Given the description of an element on the screen output the (x, y) to click on. 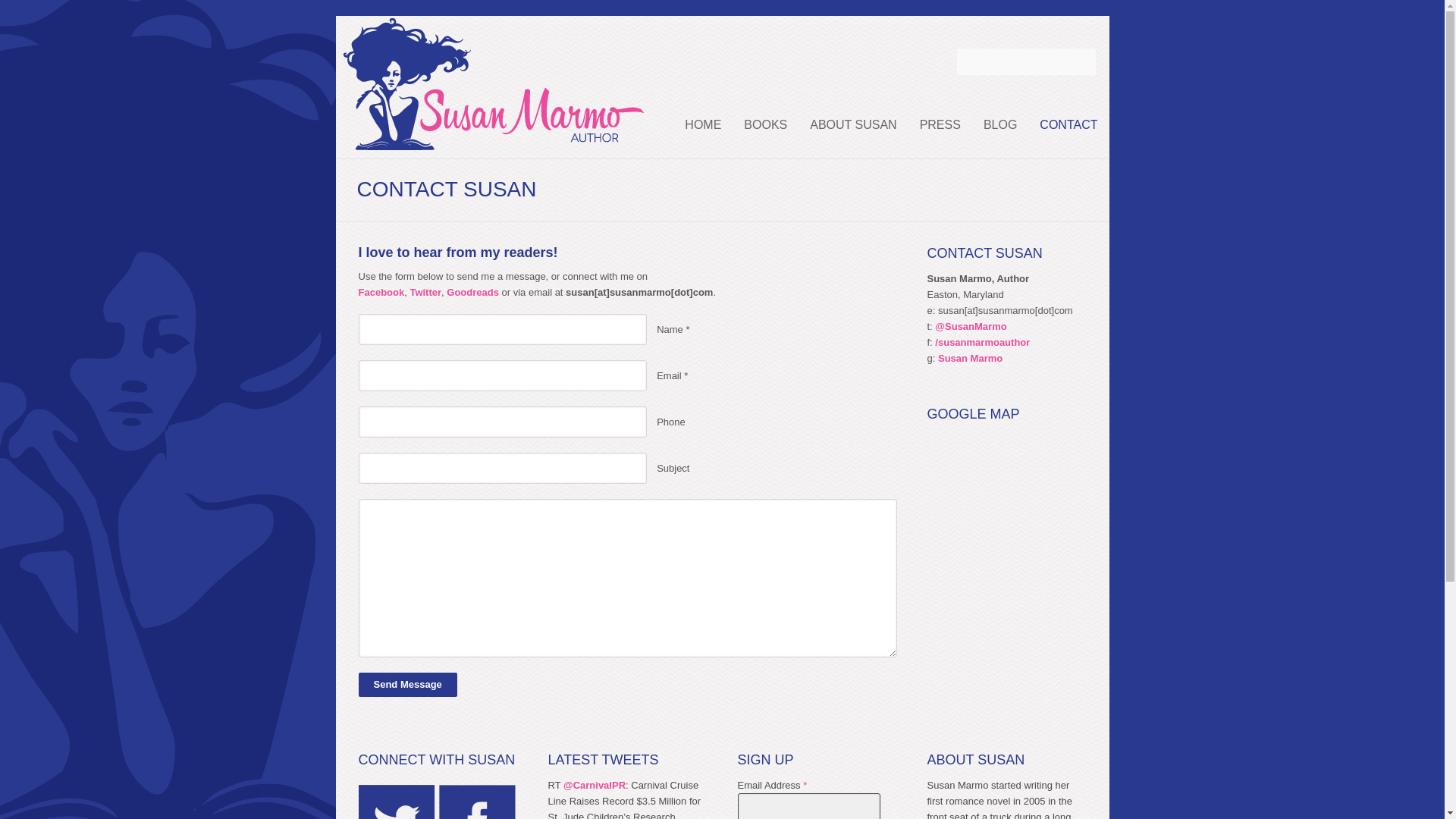
PRESS (940, 123)
Twitter (425, 292)
Susan Marmo (970, 357)
Goodreads (472, 292)
ABOUT SUSAN (852, 123)
Susan Marmo (492, 141)
Facebook (381, 292)
BOOKS (764, 123)
Send Message (407, 684)
BLOG (999, 123)
CONTACT (1067, 123)
HOME (702, 123)
